Given the description of an element on the screen output the (x, y) to click on. 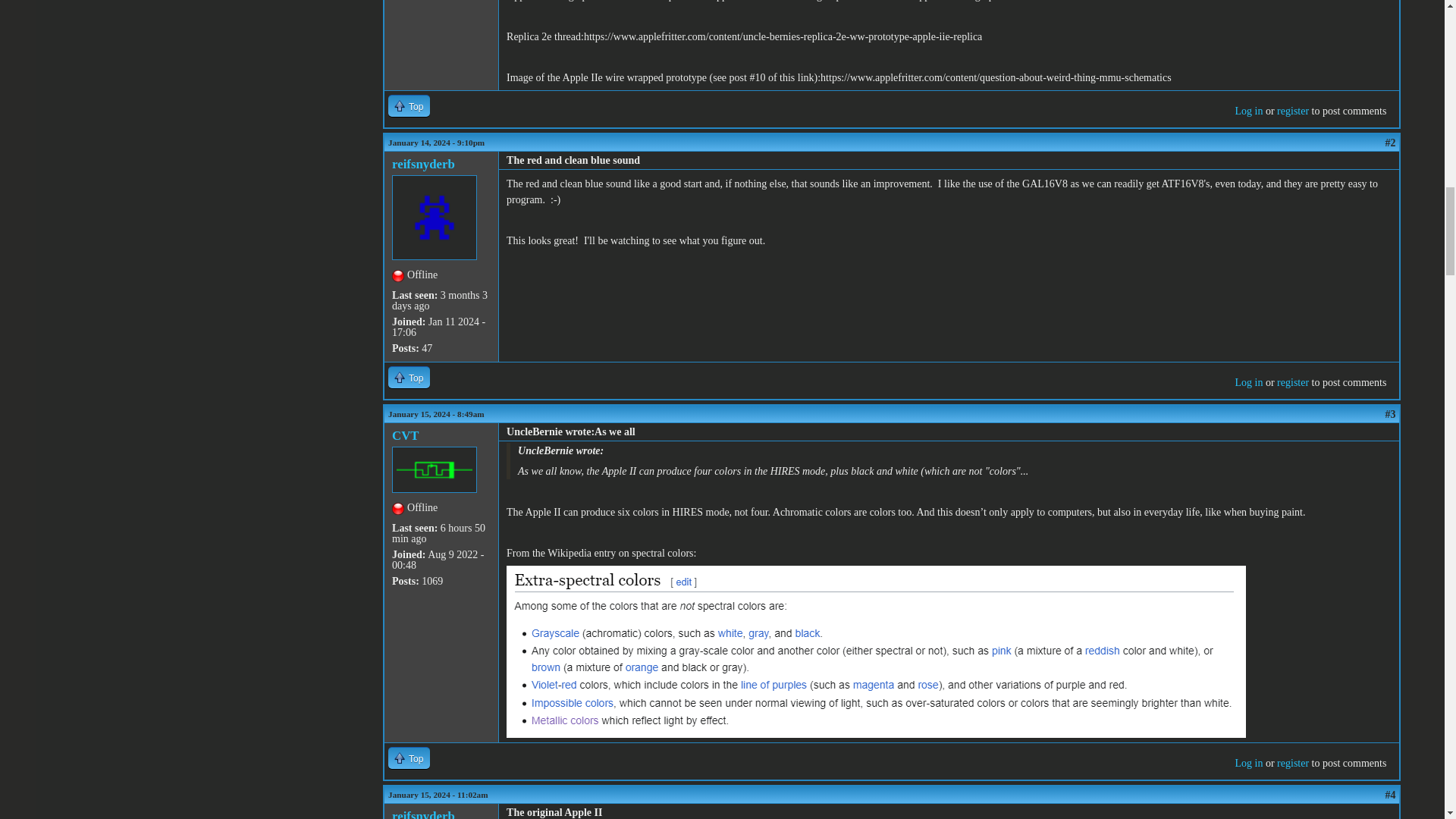
Log in (1248, 763)
CVT (405, 435)
Colors.png (547, 587)
View user profile. (422, 814)
reifsnyderb's picture (434, 217)
register (1292, 111)
CVT's picture (434, 469)
Log in (1248, 111)
View user profile. (422, 164)
register (1292, 382)
Top (408, 757)
Jump to top of page (408, 377)
Jump to top of page (408, 757)
reifsnyderb (422, 814)
reifsnyderb (422, 164)
